Given the description of an element on the screen output the (x, y) to click on. 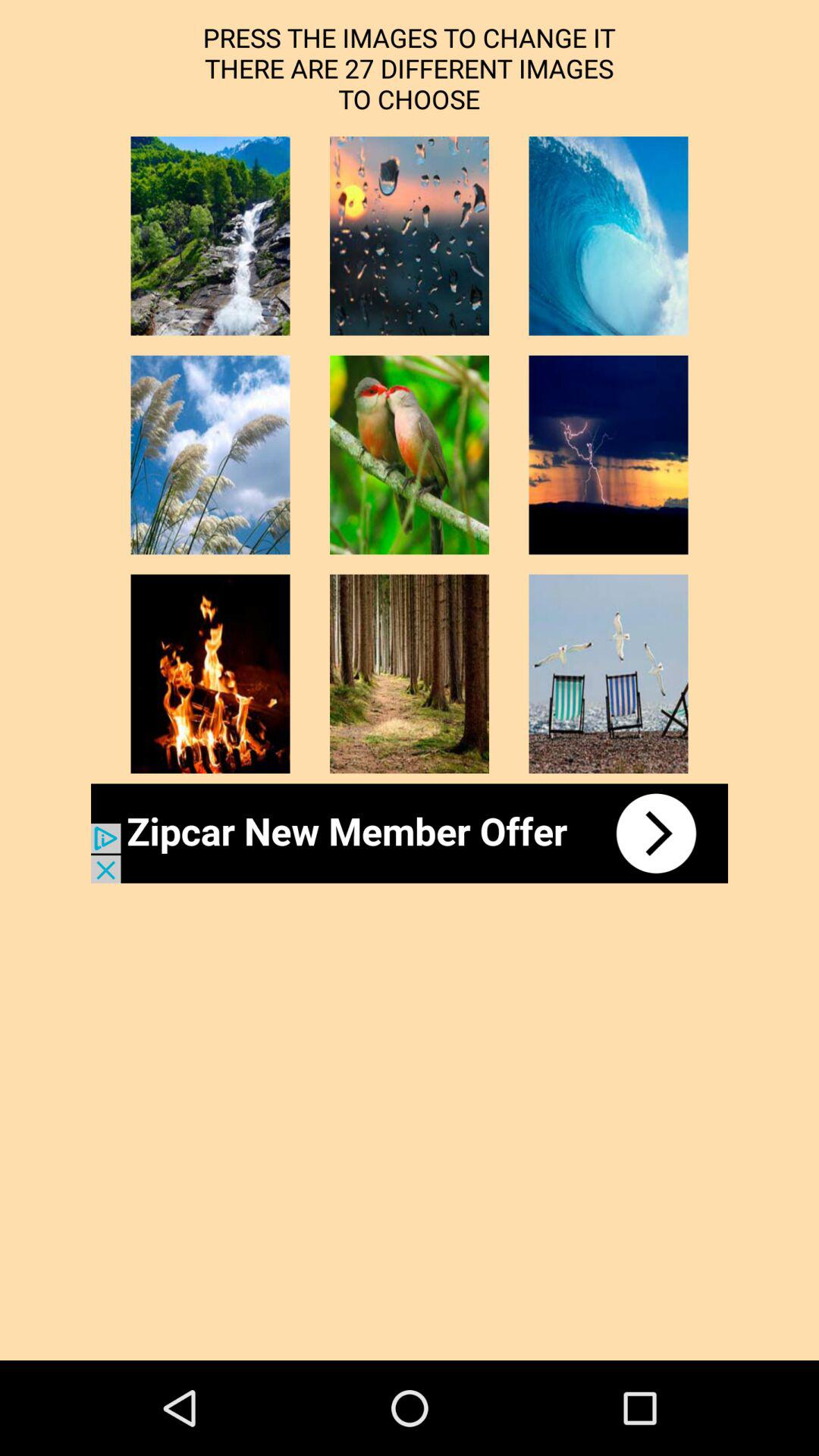
select image (409, 235)
